Given the description of an element on the screen output the (x, y) to click on. 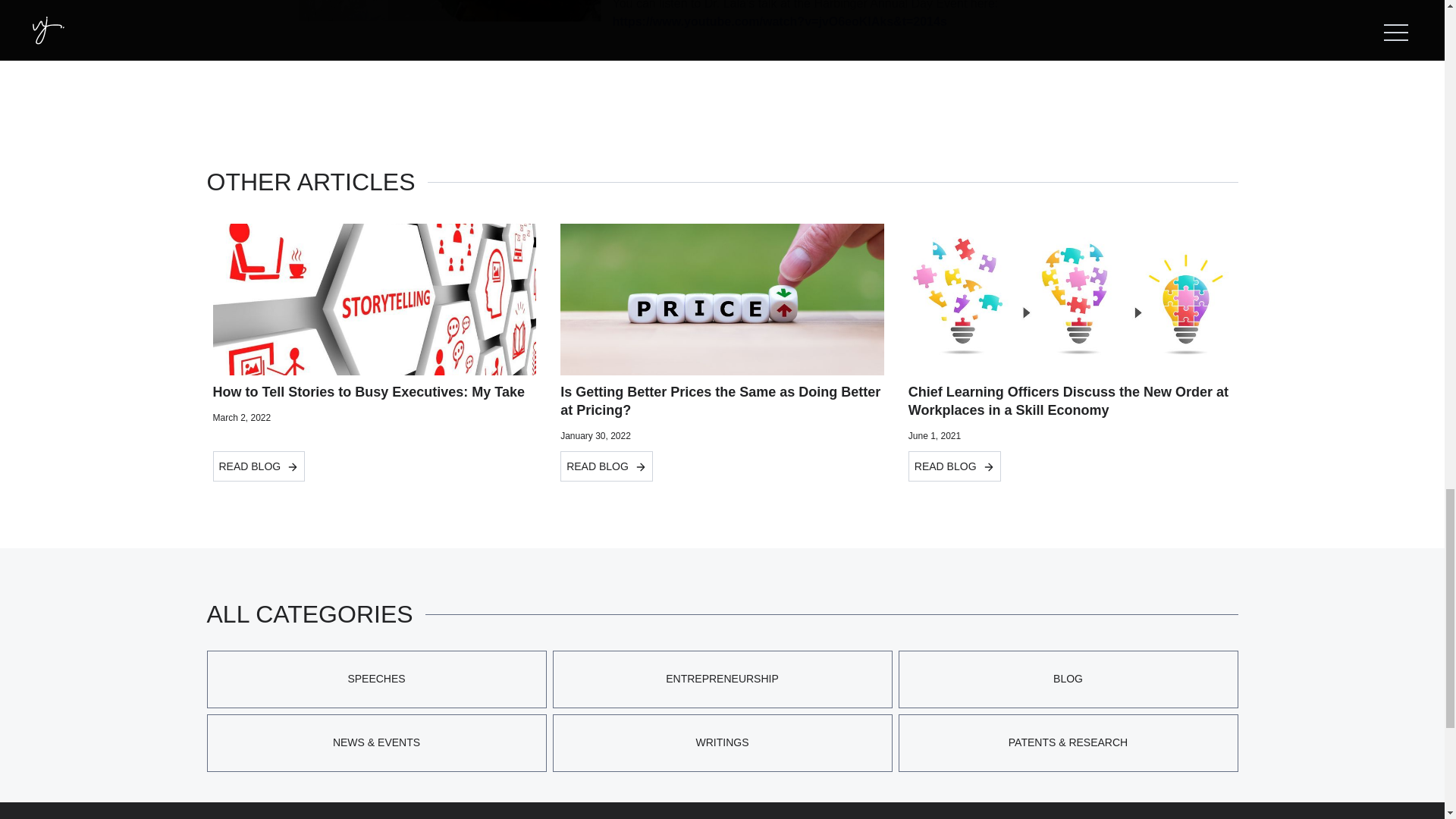
READ BLOG (606, 466)
READ BLOG (258, 466)
ENTREPRENEURSHIP (721, 679)
READ BLOG (954, 466)
SPEECHES (376, 679)
BLOG (1067, 679)
WRITINGS (721, 743)
